Given the description of an element on the screen output the (x, y) to click on. 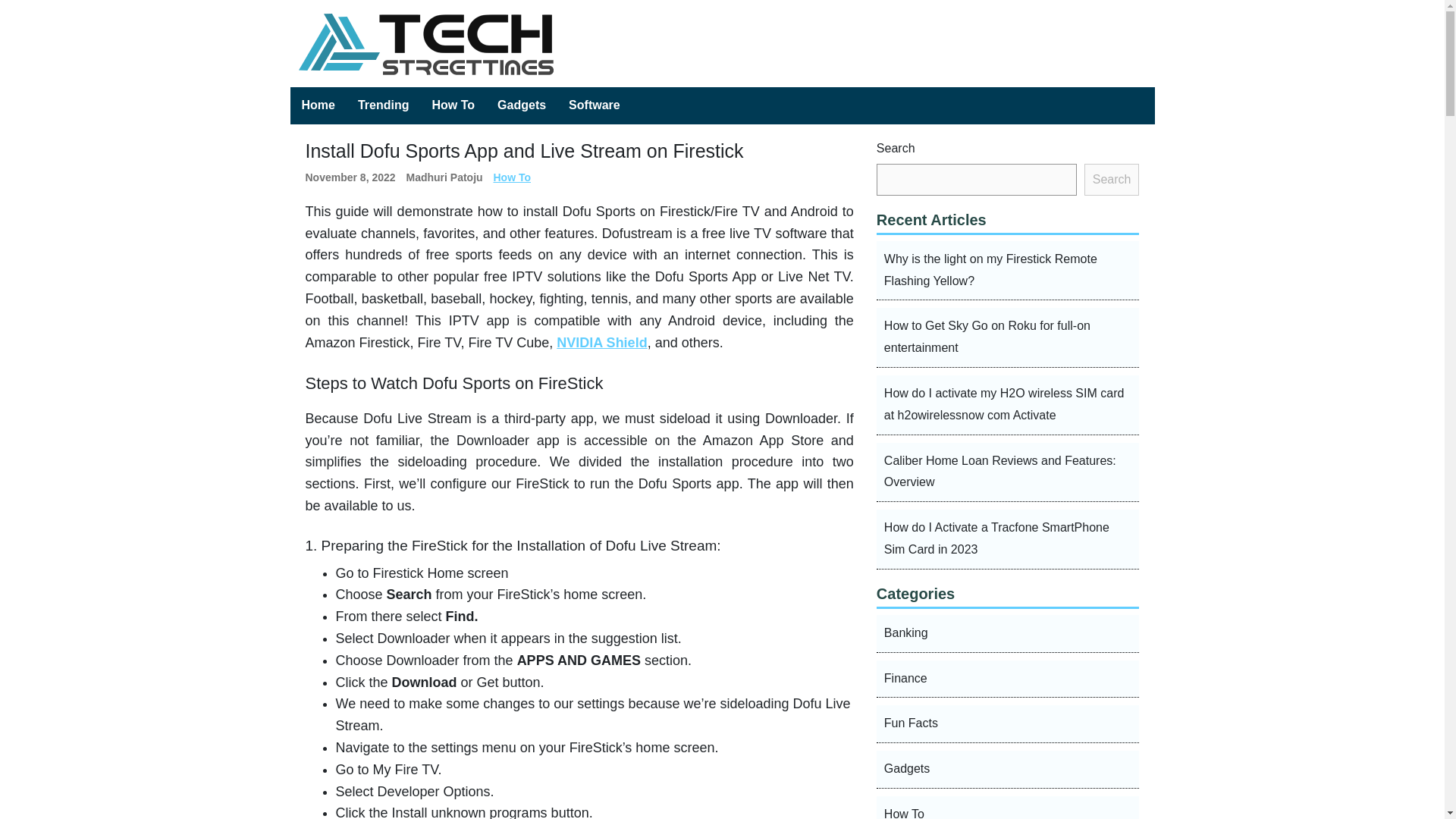
Search (1112, 179)
Finance (1008, 679)
Caliber Home Loan Reviews and Features: Overview (1008, 472)
Gadgets (521, 105)
How to Get Sky Go on Roku for full-on entertainment (1008, 337)
Software (594, 105)
How To (512, 177)
How To (1008, 807)
Trending (383, 105)
Banking (1008, 633)
Why is the light on my Firestick Remote Flashing Yellow? (1008, 270)
How do I Activate a Tracfone SmartPhone Sim Card in 2023 (1008, 539)
Gadgets (1008, 769)
NVIDIA Shield (601, 342)
Fun Facts (1008, 723)
